Given the description of an element on the screen output the (x, y) to click on. 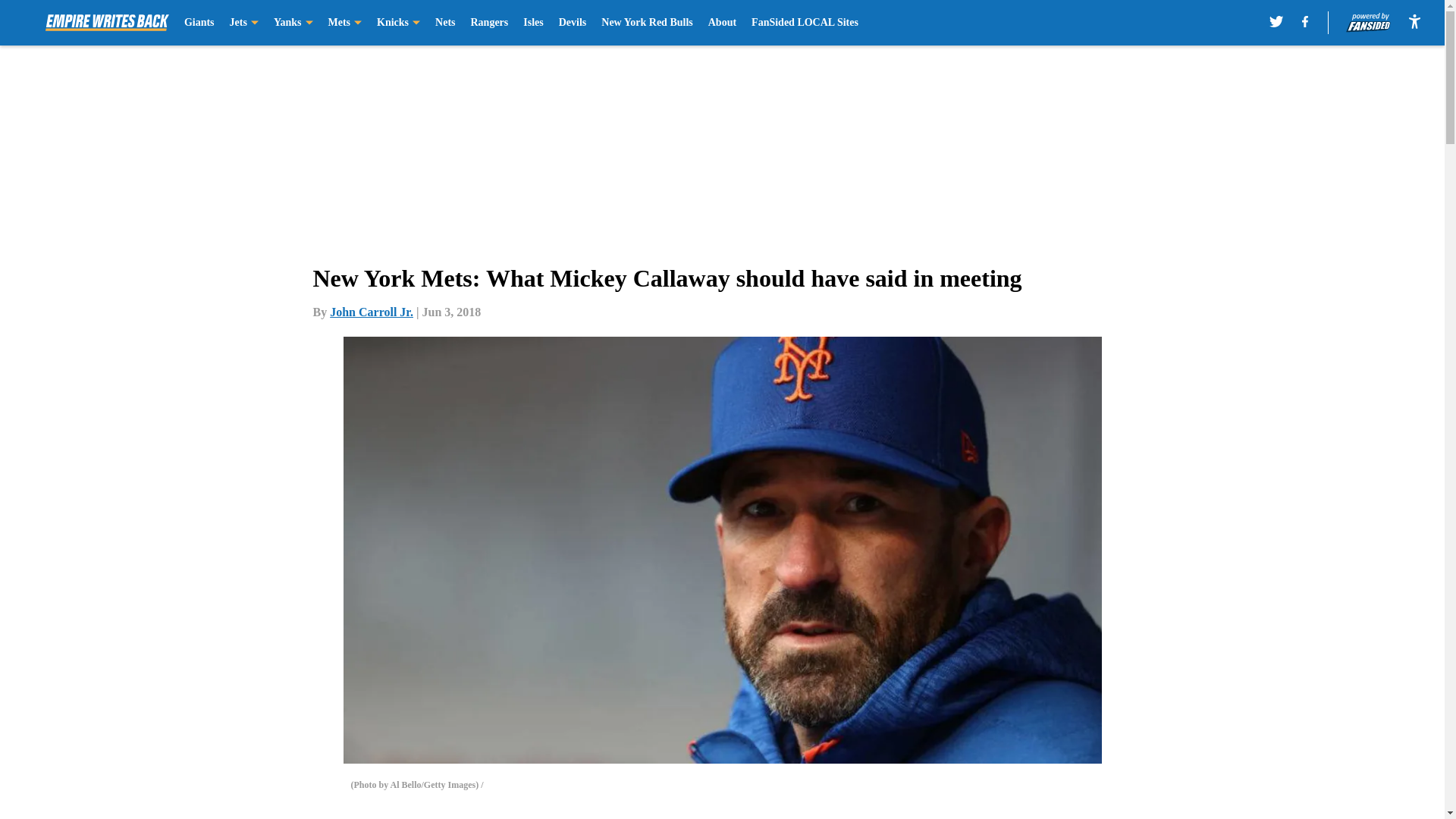
Giants (199, 22)
About (721, 22)
Rangers (489, 22)
New York Red Bulls (647, 22)
John Carroll Jr. (371, 311)
FanSided LOCAL Sites (805, 22)
Nets (444, 22)
Devils (572, 22)
Isles (532, 22)
